Given the description of an element on the screen output the (x, y) to click on. 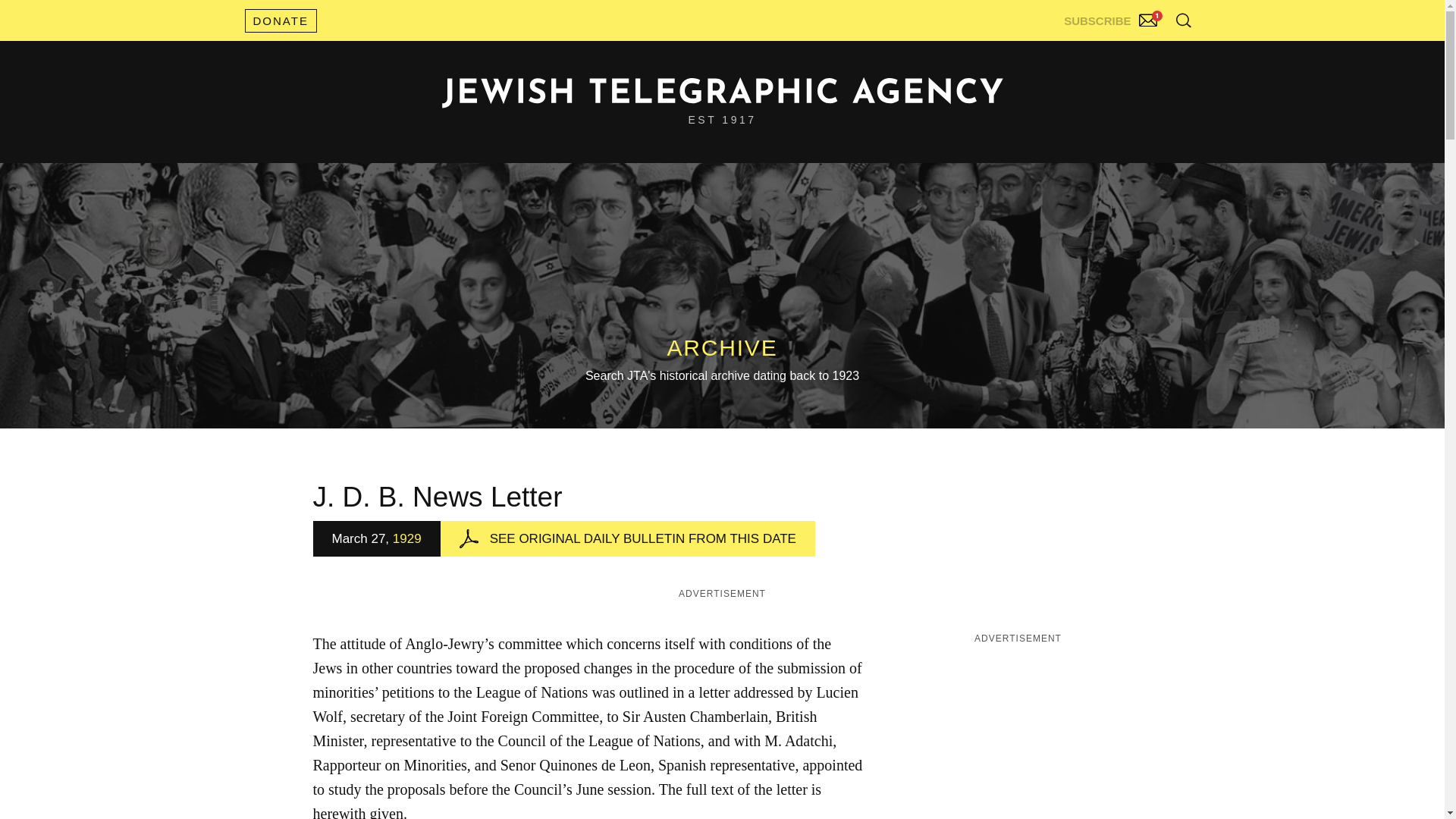
Search (1144, 53)
SEARCH TOGGLESEARCH TOGGLE (1182, 20)
DONATE (279, 20)
SUBSCRIBE (1112, 17)
